Given the description of an element on the screen output the (x, y) to click on. 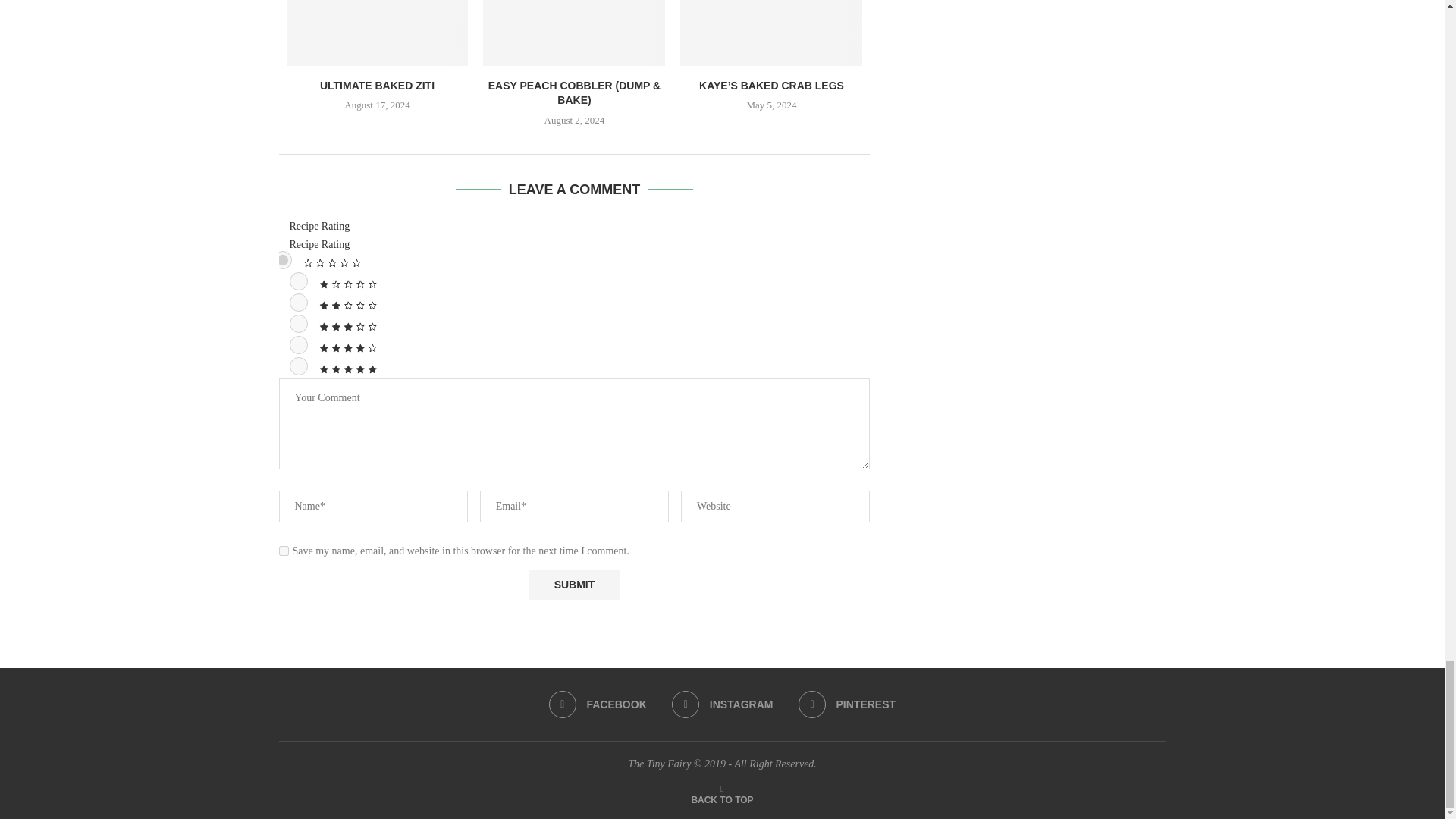
4 (298, 344)
0 (282, 259)
1 (298, 280)
5 (298, 366)
Submit (574, 584)
2 (298, 302)
yes (283, 551)
3 (298, 323)
Ultimate Baked Ziti (377, 33)
